Given the description of an element on the screen output the (x, y) to click on. 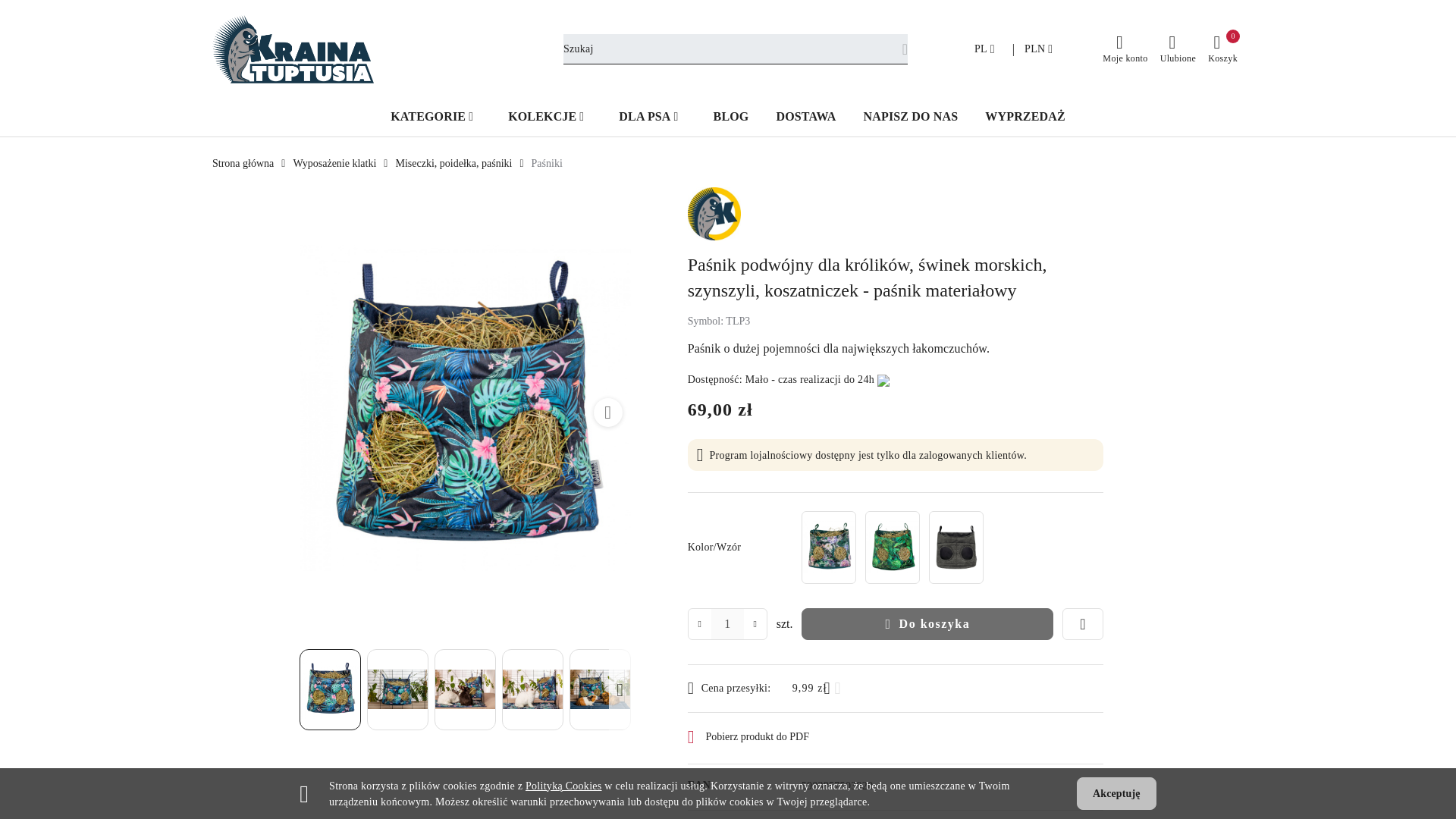
Szukaj (883, 56)
1 (727, 623)
Kraina Tuptusia (714, 212)
